Given the description of an element on the screen output the (x, y) to click on. 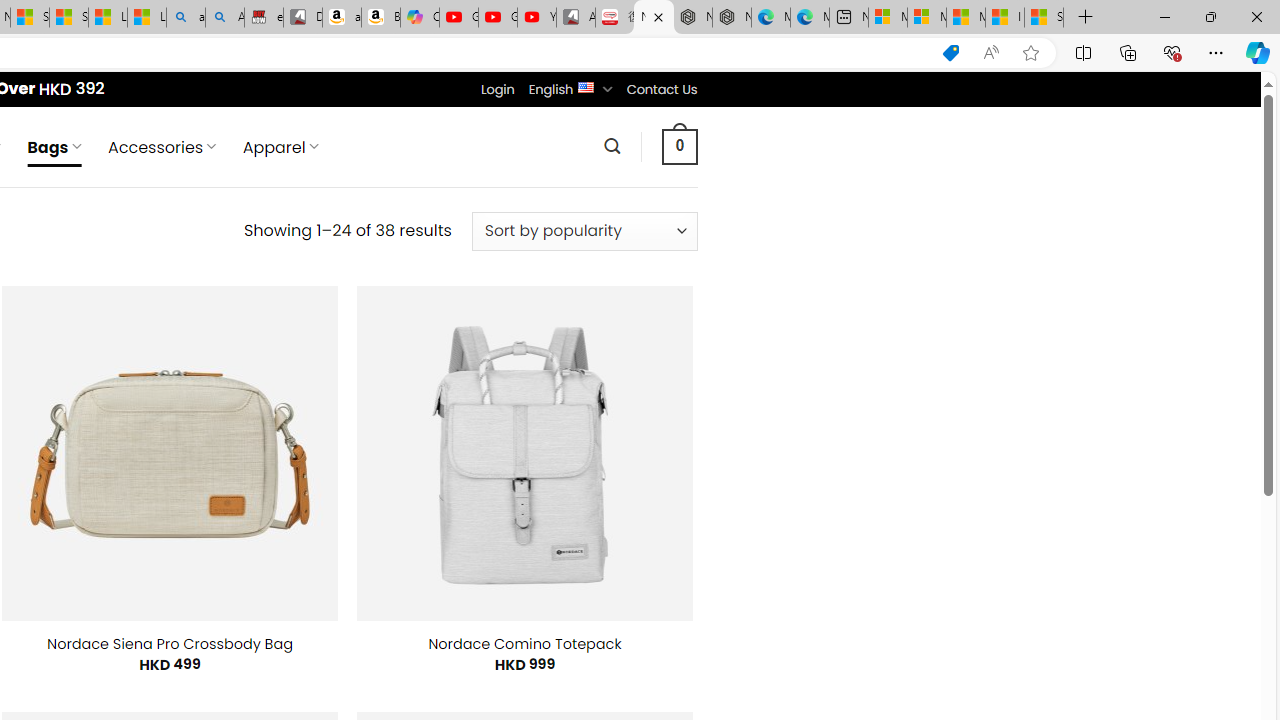
Gloom - YouTube (497, 17)
Amazon Echo Dot PNG - Search Images (225, 17)
Shop order (584, 231)
Contact Us (661, 89)
Login (497, 89)
Login (497, 89)
